Given the description of an element on the screen output the (x, y) to click on. 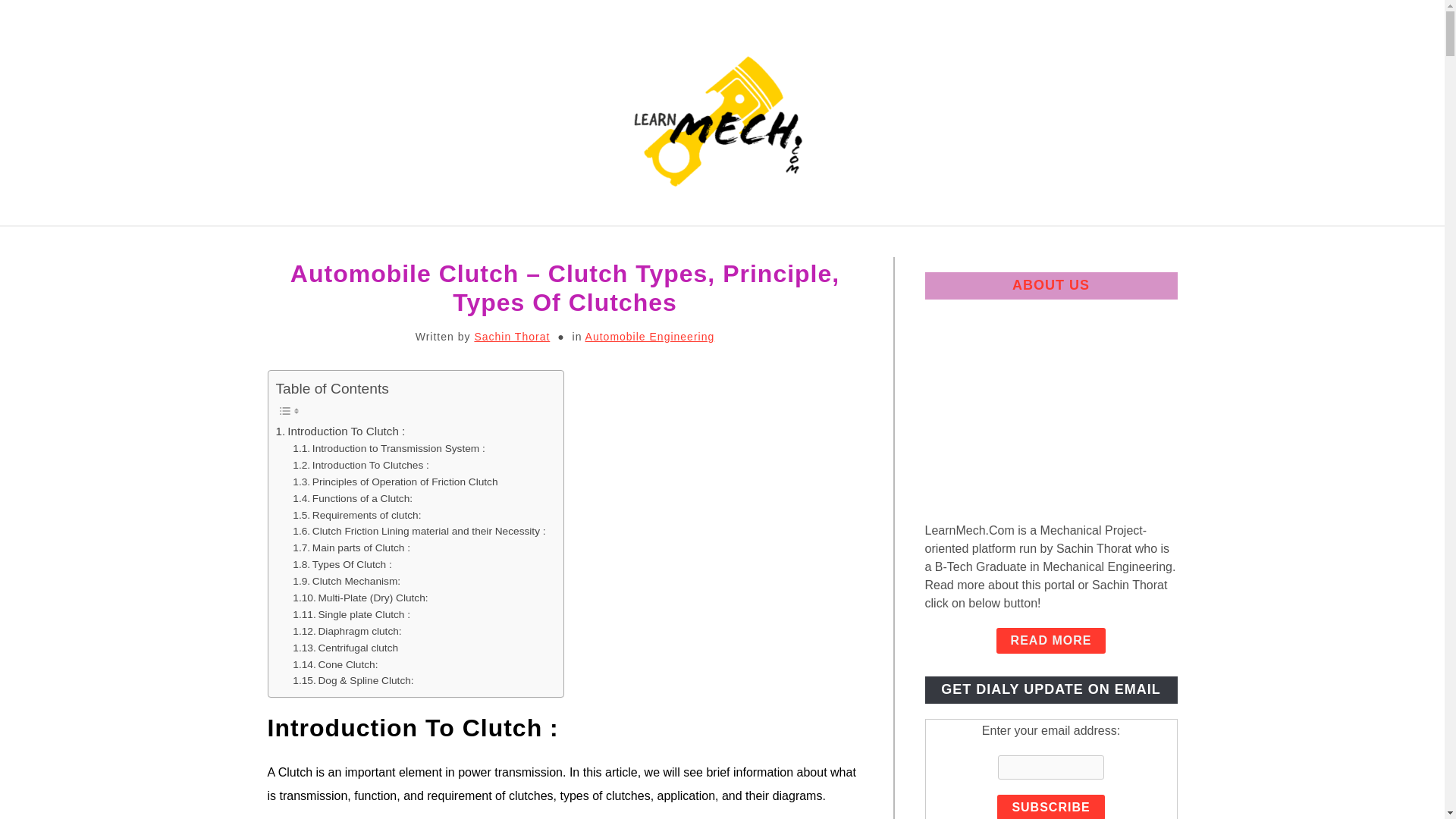
Functions of a Clutch: (352, 498)
Centrifugal clutch (344, 647)
Introduction To Clutches :  (361, 465)
Clutch Friction Lining material and their Necessity :  (420, 531)
Introduction to Transmission System :  (389, 448)
Introduction To Clutch : (341, 431)
Types Of Clutch : (341, 564)
SUBJECT WISE NOTES (437, 243)
Requirements of clutch: (356, 514)
GATE (1043, 243)
Requirements of clutch: (356, 514)
PROJECTS LIST (595, 243)
Sachin Thorat (512, 336)
